Given the description of an element on the screen output the (x, y) to click on. 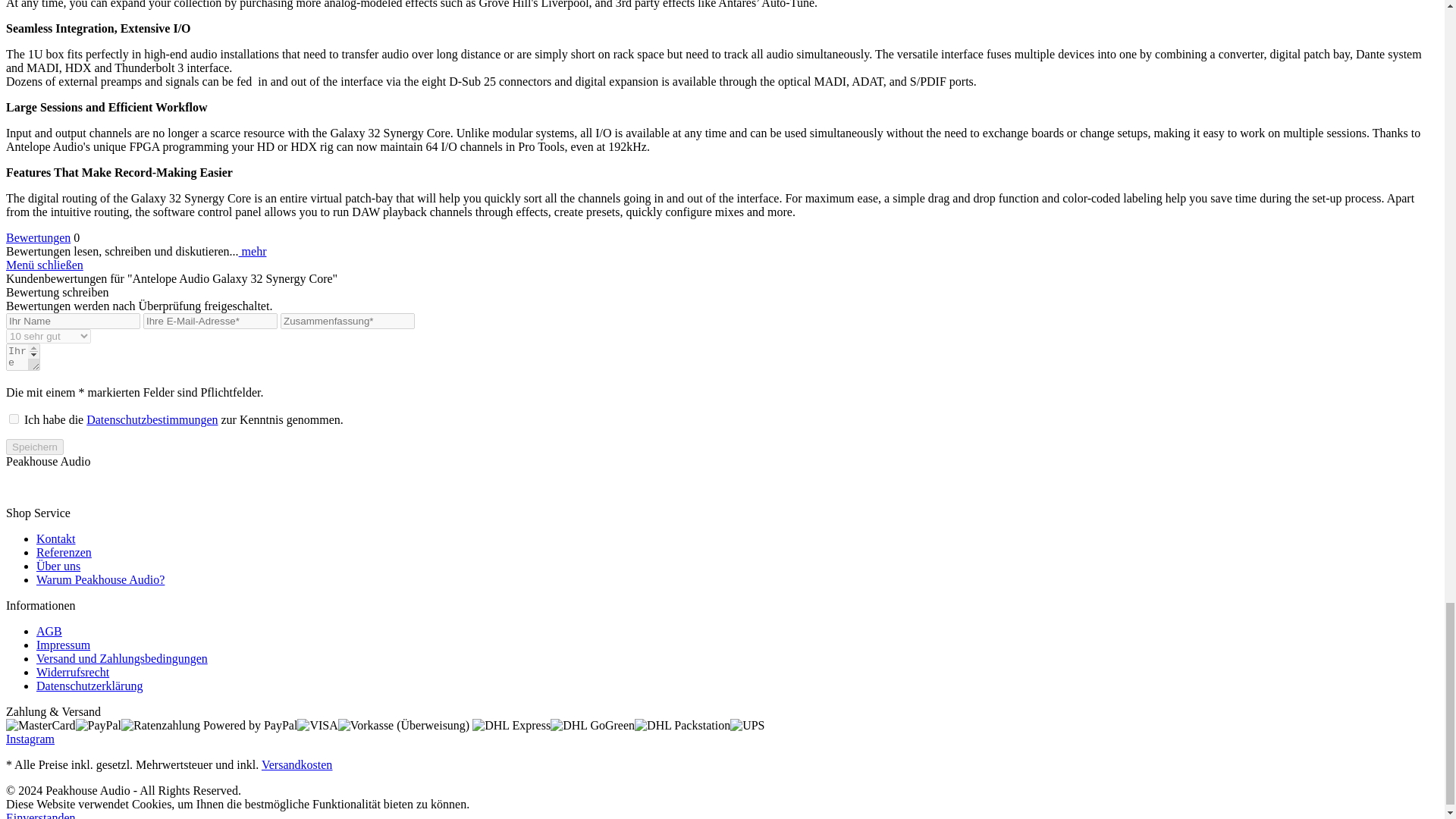
1 (13, 419)
